Given the description of an element on the screen output the (x, y) to click on. 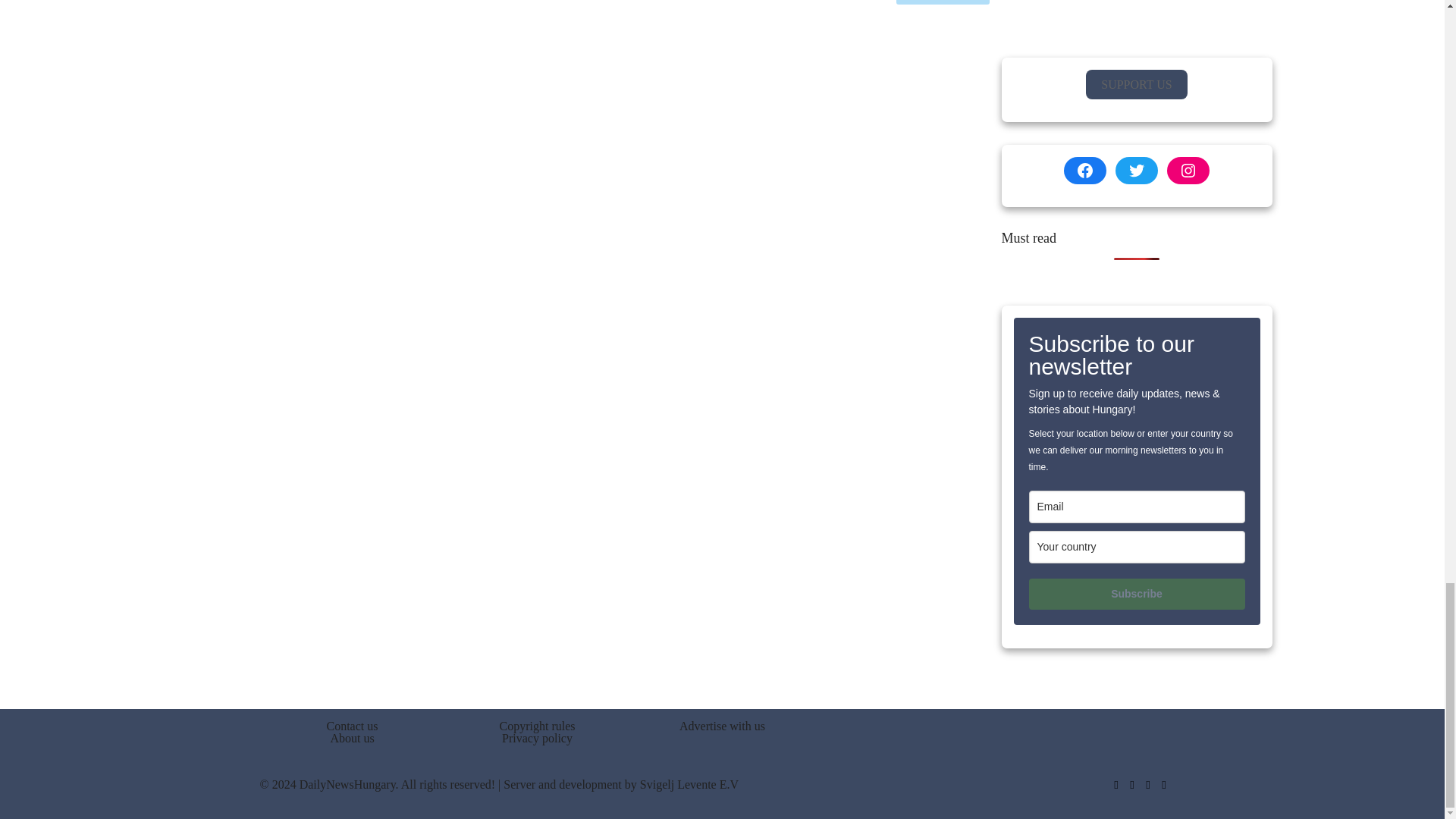
Instagram (1147, 784)
Post Comment (943, 2)
Facebook (1115, 784)
RSS (1164, 784)
